Given the description of an element on the screen output the (x, y) to click on. 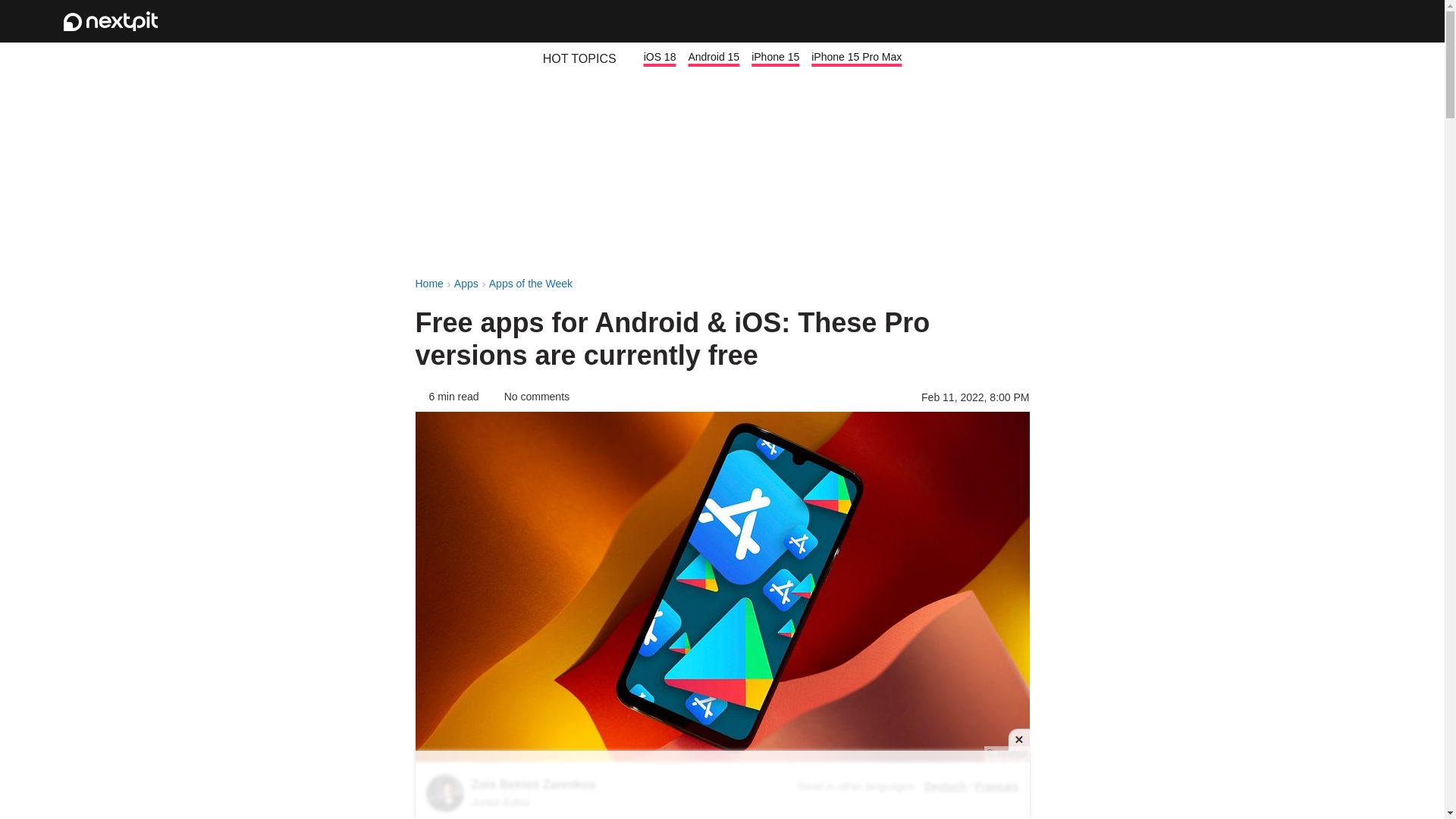
Feb 11, 2022, 8:00:01 PM (975, 397)
6 min read (446, 396)
Login (1321, 21)
To the nextpit homepage (110, 21)
Read this article in German (945, 786)
Read this article in French (997, 786)
